Given the description of an element on the screen output the (x, y) to click on. 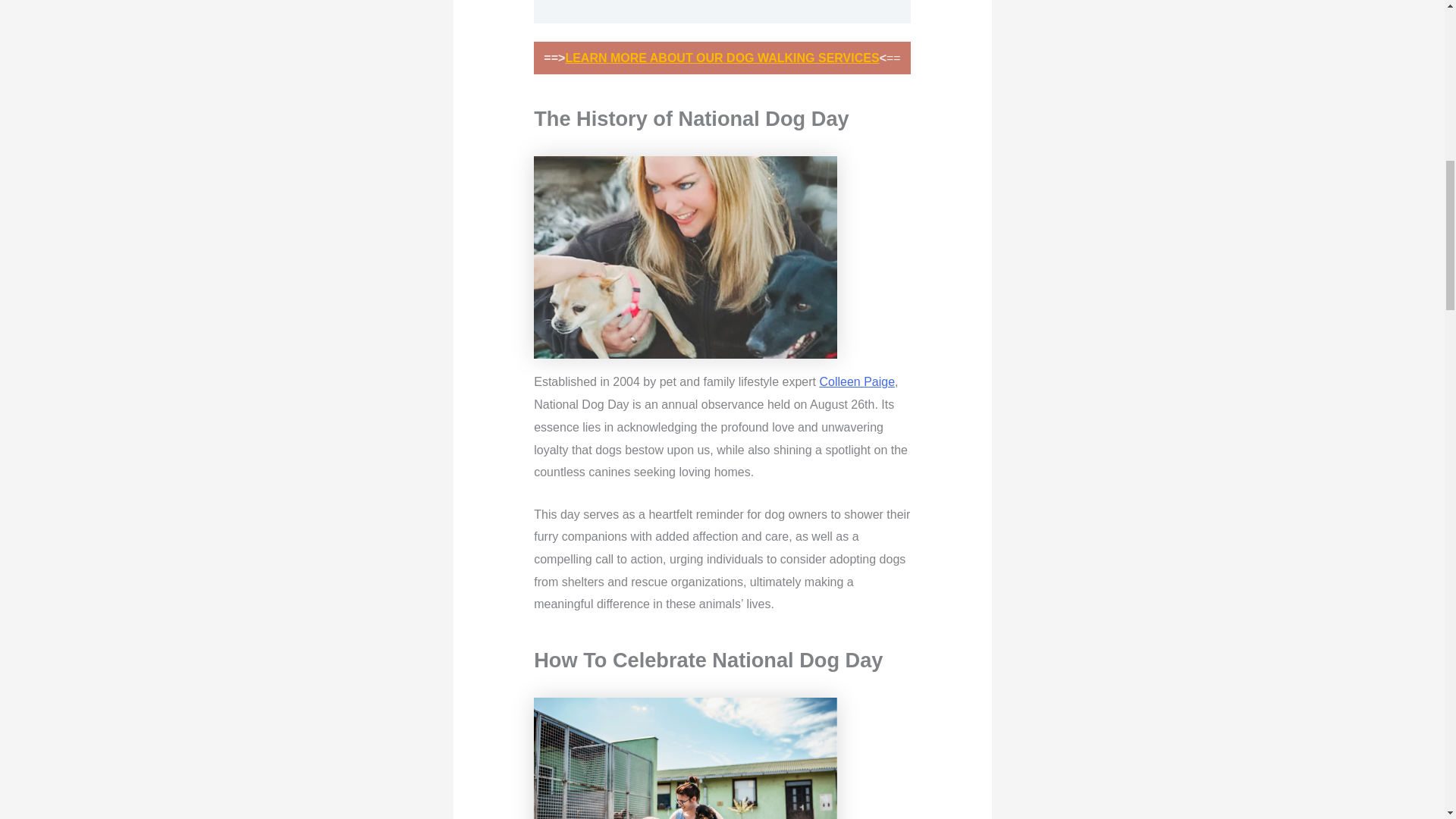
Colleen Paige (856, 381)
LEARN MORE ABOUT OUR DOG WALKING SERVICES (721, 57)
